Given the description of an element on the screen output the (x, y) to click on. 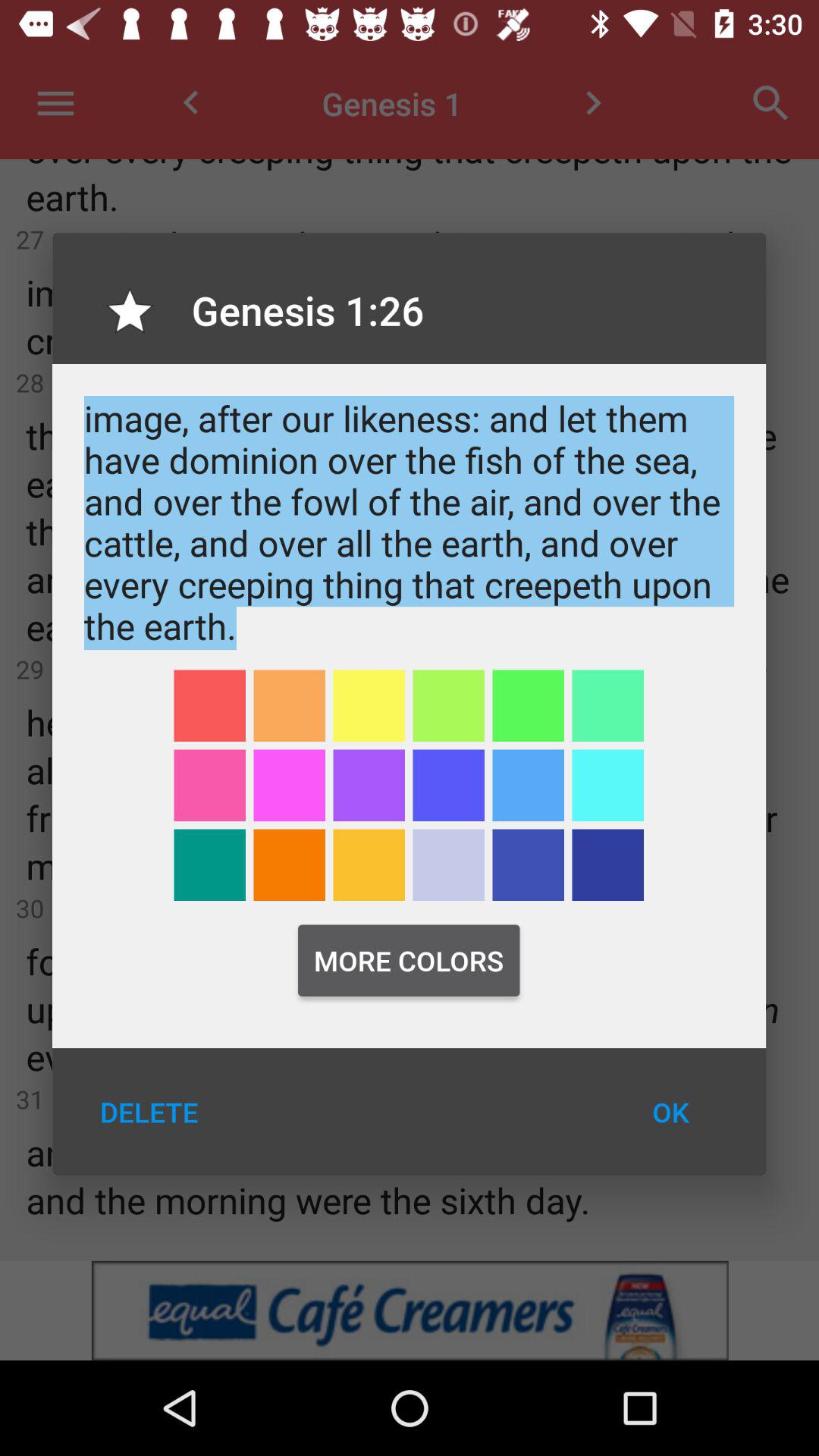
select the item below the and god said item (209, 705)
